Given the description of an element on the screen output the (x, y) to click on. 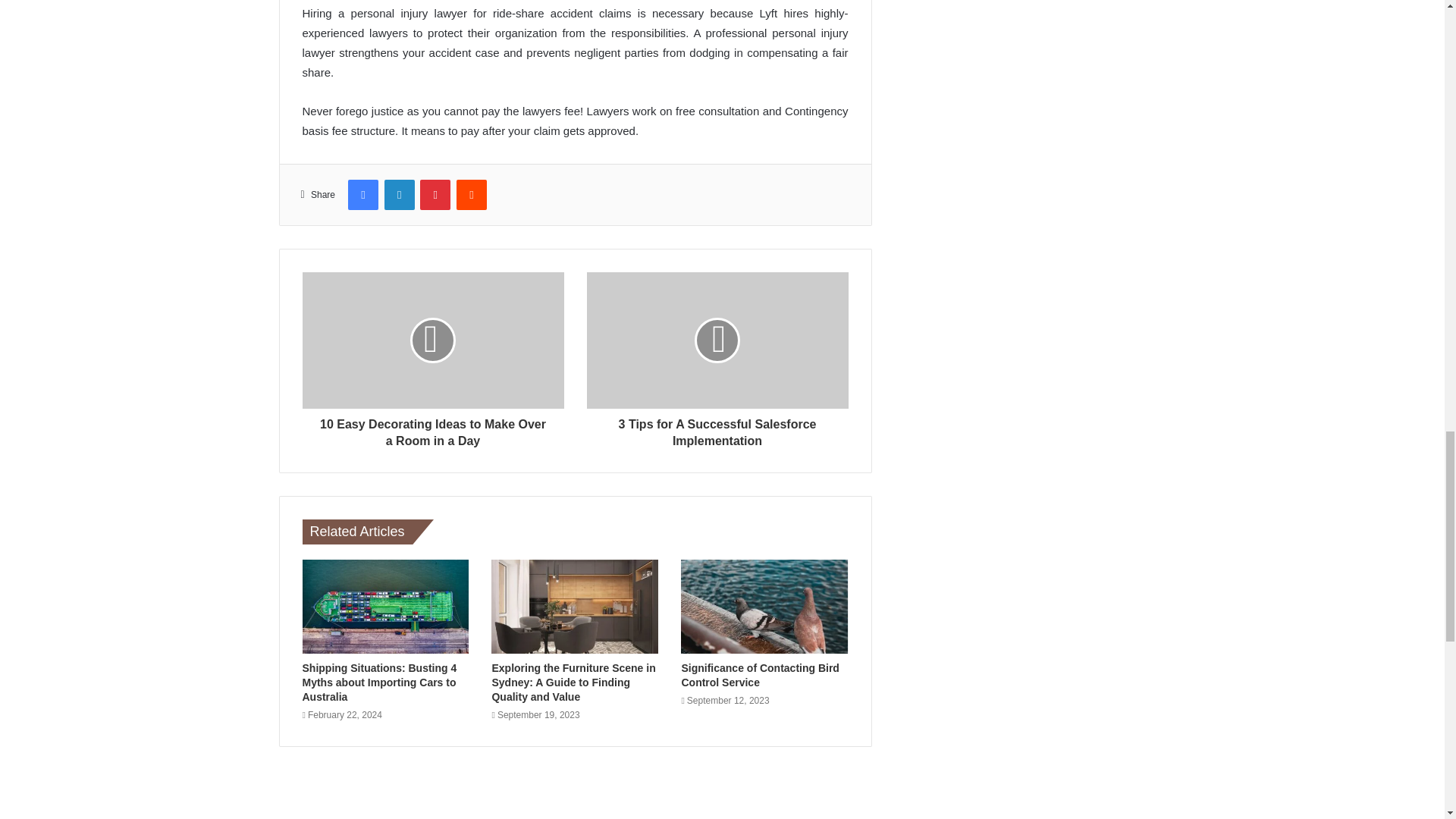
Facebook (362, 194)
